Given the description of an element on the screen output the (x, y) to click on. 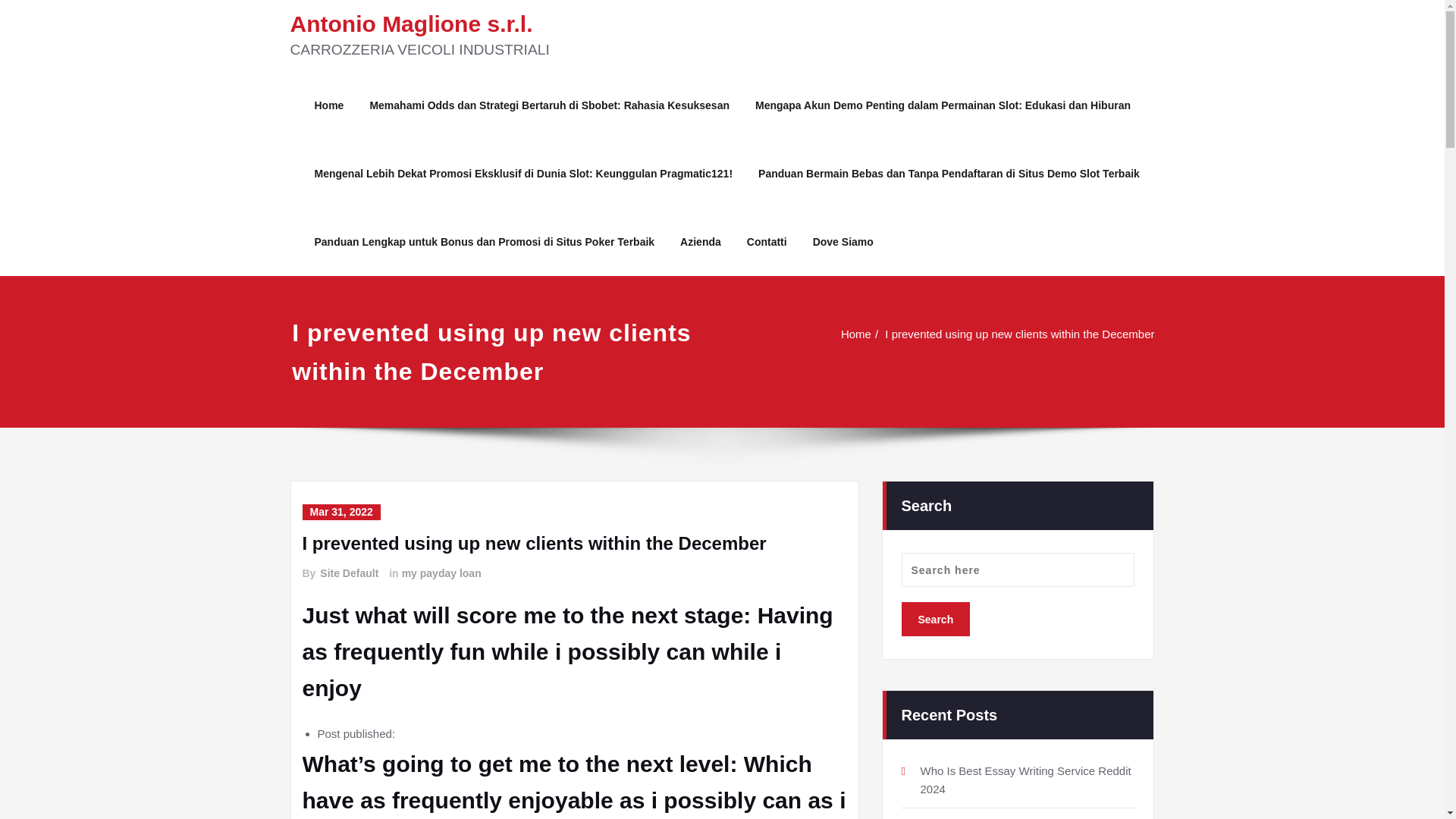
Who Is Best Essay Writing Service Reddit 2024 (1025, 778)
Search (935, 618)
Site Default (348, 573)
Dove Siamo (842, 242)
Search (935, 618)
Mar 31, 2022 (340, 512)
Antonio Maglione s.r.l. (410, 23)
